Given the description of an element on the screen output the (x, y) to click on. 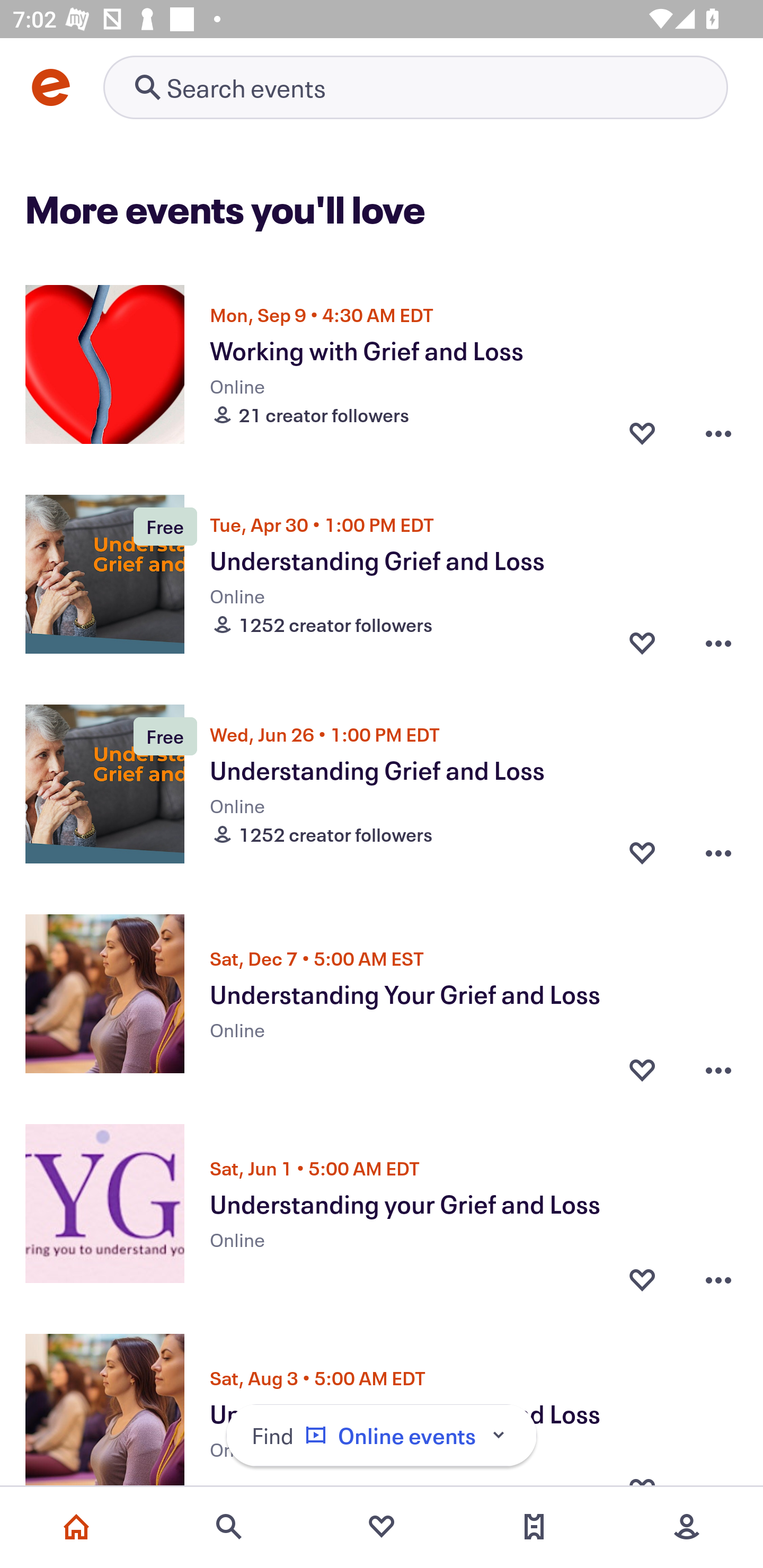
Retry's image Search events (415, 86)
Favorite button (642, 431)
Overflow menu button (718, 431)
Favorite button (642, 641)
Overflow menu button (718, 641)
Favorite button (642, 852)
Overflow menu button (718, 852)
Favorite button (642, 1065)
Overflow menu button (718, 1065)
Favorite button (642, 1274)
Overflow menu button (718, 1274)
Find Online events (381, 1435)
Home (76, 1526)
Search events (228, 1526)
Favorites (381, 1526)
Tickets (533, 1526)
More (686, 1526)
